Given the description of an element on the screen output the (x, y) to click on. 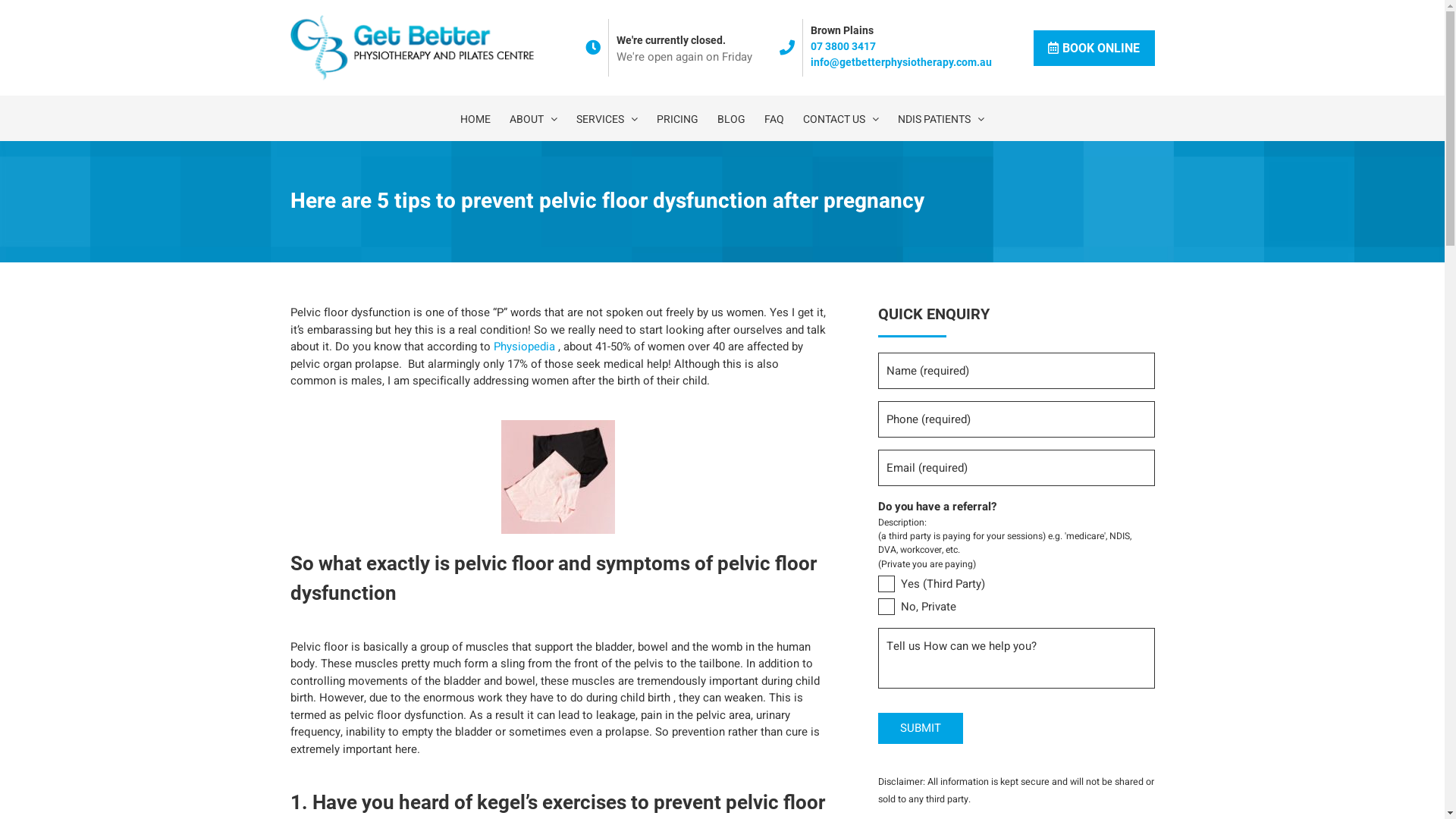
HOME Element type: text (475, 118)
ABOUT Element type: text (533, 118)
BOOK ONLINE Element type: text (1093, 47)
BLOG Element type: text (731, 118)
SERVICES Element type: text (606, 118)
Physiopedia Element type: text (523, 346)
info@getbetterphysiotherapy.com.au Element type: text (900, 62)
Submit Element type: text (920, 727)
CONTACT US Element type: text (840, 118)
NDIS PATIENTS Element type: text (940, 118)
FAQ Element type: text (774, 118)
07 3800 3417 Element type: text (842, 46)
PRICING Element type: text (677, 118)
two-pairs-of-women-s-underwear Element type: hover (558, 476)
